Given the description of an element on the screen output the (x, y) to click on. 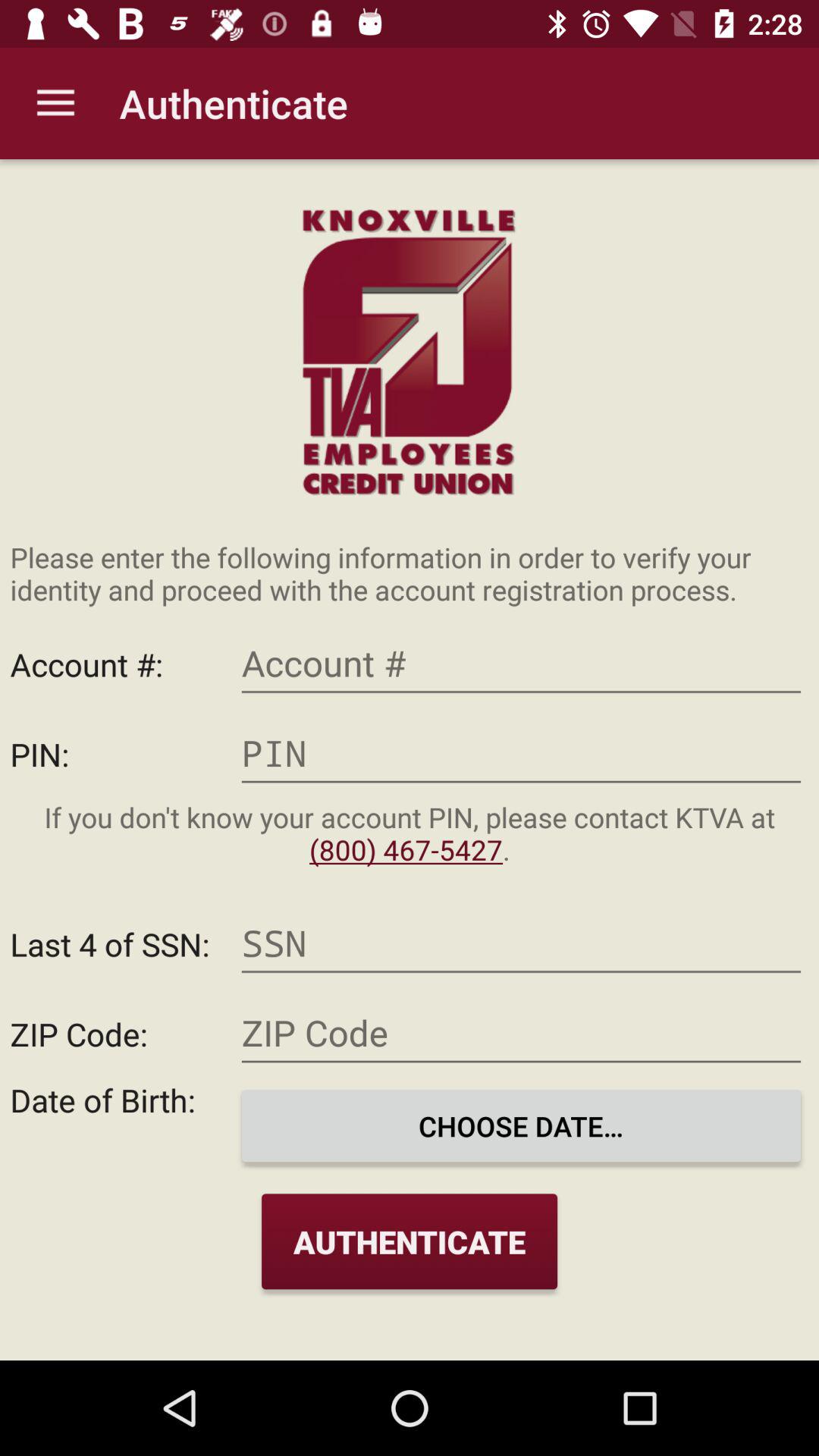
enter text (520, 753)
